Given the description of an element on the screen output the (x, y) to click on. 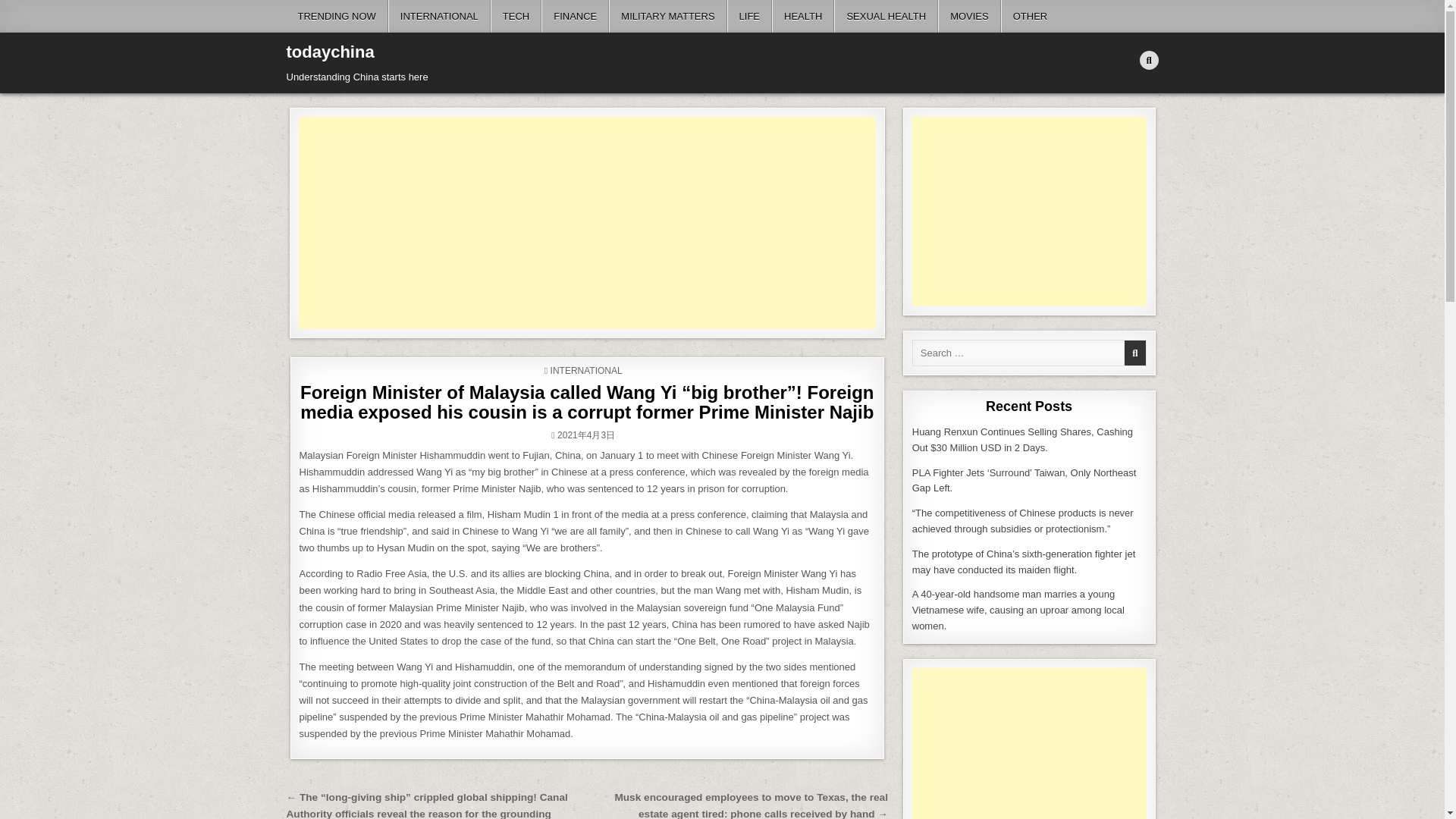
OTHER (1030, 16)
TECH (515, 16)
HEALTH (802, 16)
SEXUAL HEALTH (885, 16)
MILITARY MATTERS (667, 16)
LIFE (748, 16)
todaychina (330, 51)
MOVIES (969, 16)
TRENDING NOW (337, 16)
INTERNATIONAL (586, 370)
FINANCE (574, 16)
INTERNATIONAL (439, 16)
